Given the description of an element on the screen output the (x, y) to click on. 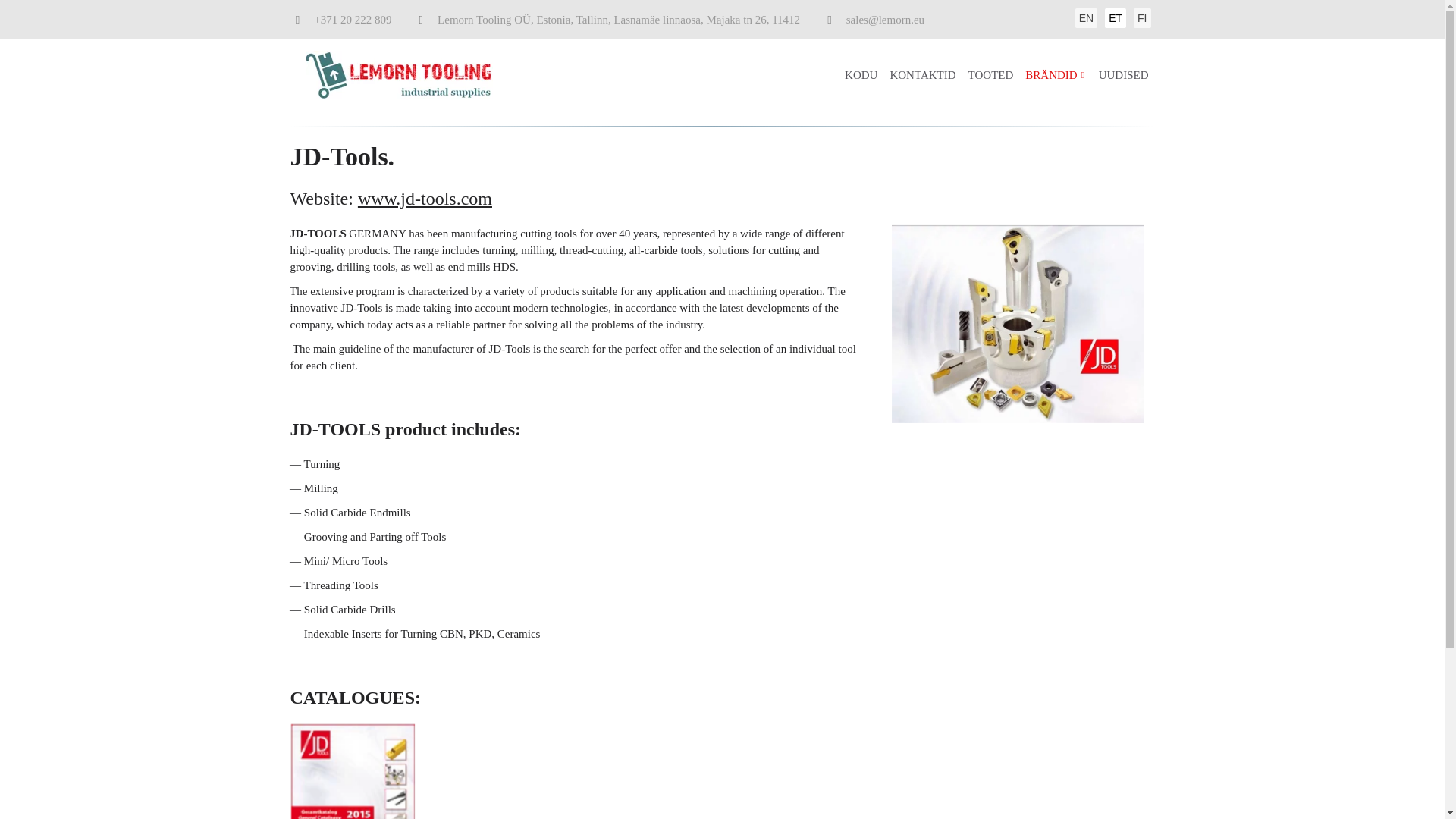
EN (1086, 17)
CATALOGUES: (721, 686)
TOOTED (990, 75)
ET (1115, 17)
JD-Tools (352, 771)
Website: www.jd-tools.com (721, 206)
KONTAKTID (922, 75)
KODU (860, 75)
JD-Tools.  (721, 164)
JD-Tools (1016, 324)
